Given the description of an element on the screen output the (x, y) to click on. 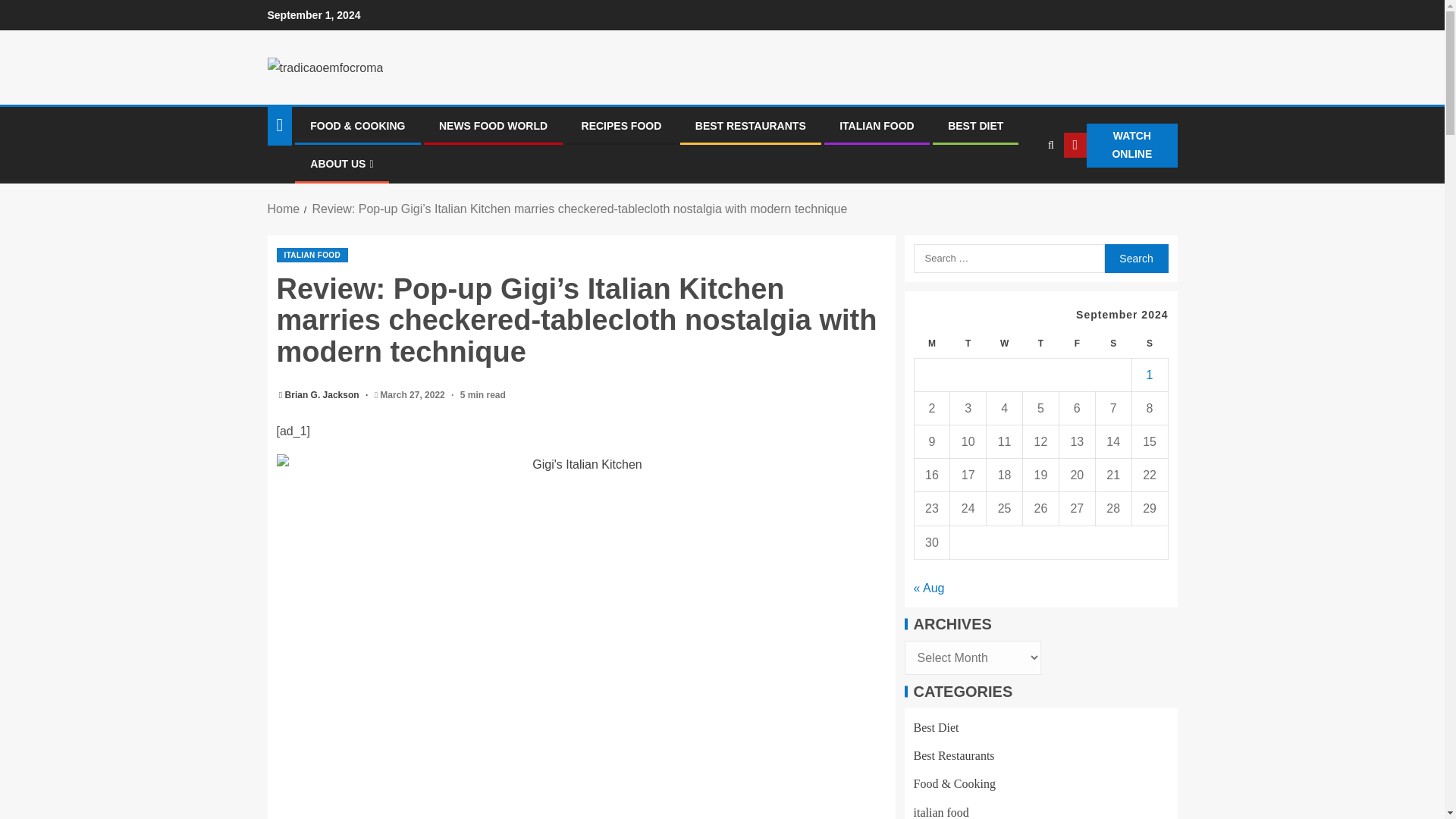
Home (282, 208)
ITALIAN FOOD (311, 255)
BEST DIET (975, 125)
ITALIAN FOOD (877, 125)
Brian G. Jackson (323, 394)
Search (1020, 191)
Search (1135, 258)
NEWS FOOD WORLD (493, 125)
Monday (932, 343)
RECIPES FOOD (621, 125)
